Given the description of an element on the screen output the (x, y) to click on. 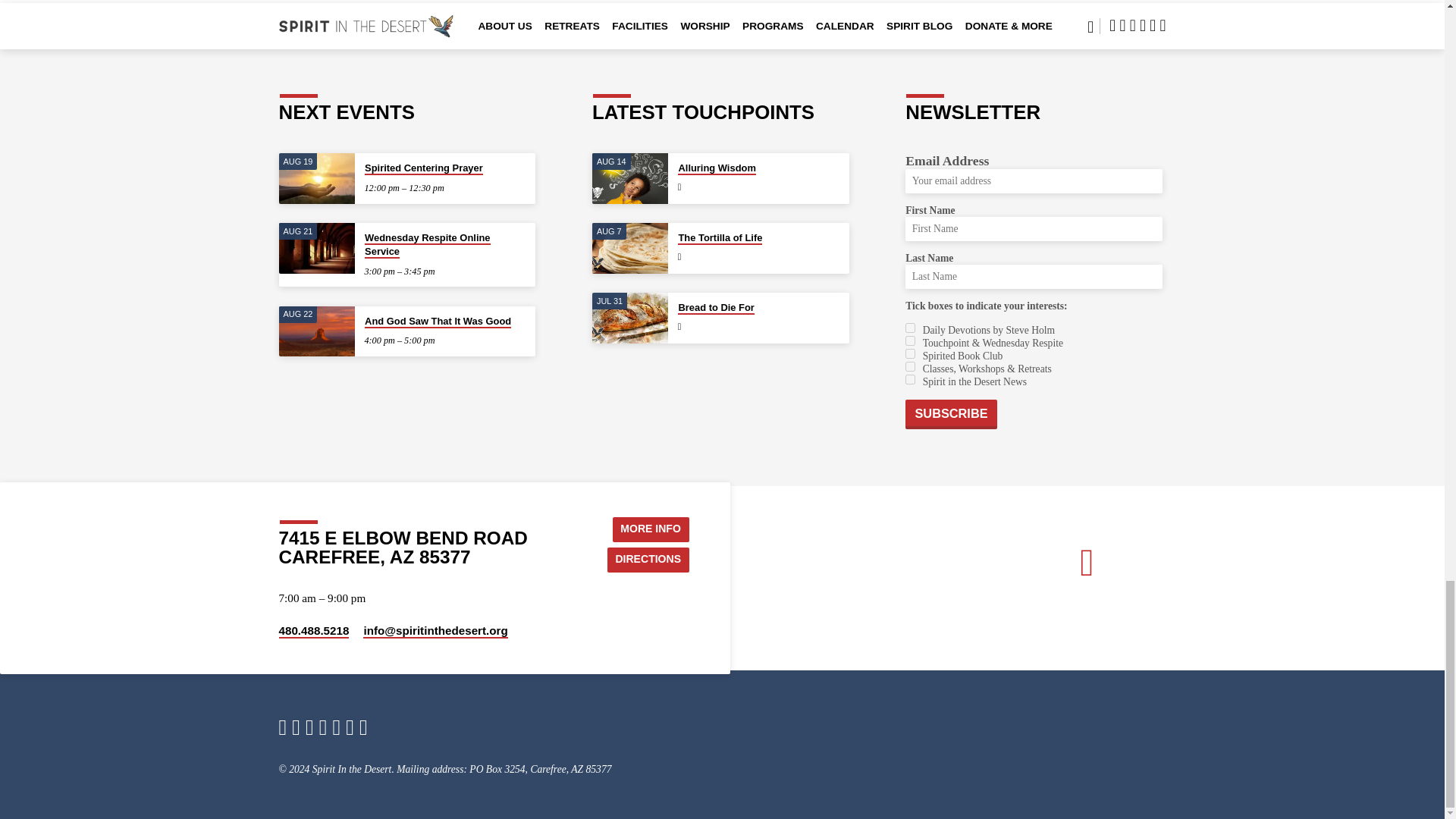
44e0e54a7c (910, 340)
Subscribe (951, 413)
e15f548fa0 (910, 366)
451e56ae58 (910, 353)
f19ab91031 (910, 327)
db06863268 (910, 379)
